Given the description of an element on the screen output the (x, y) to click on. 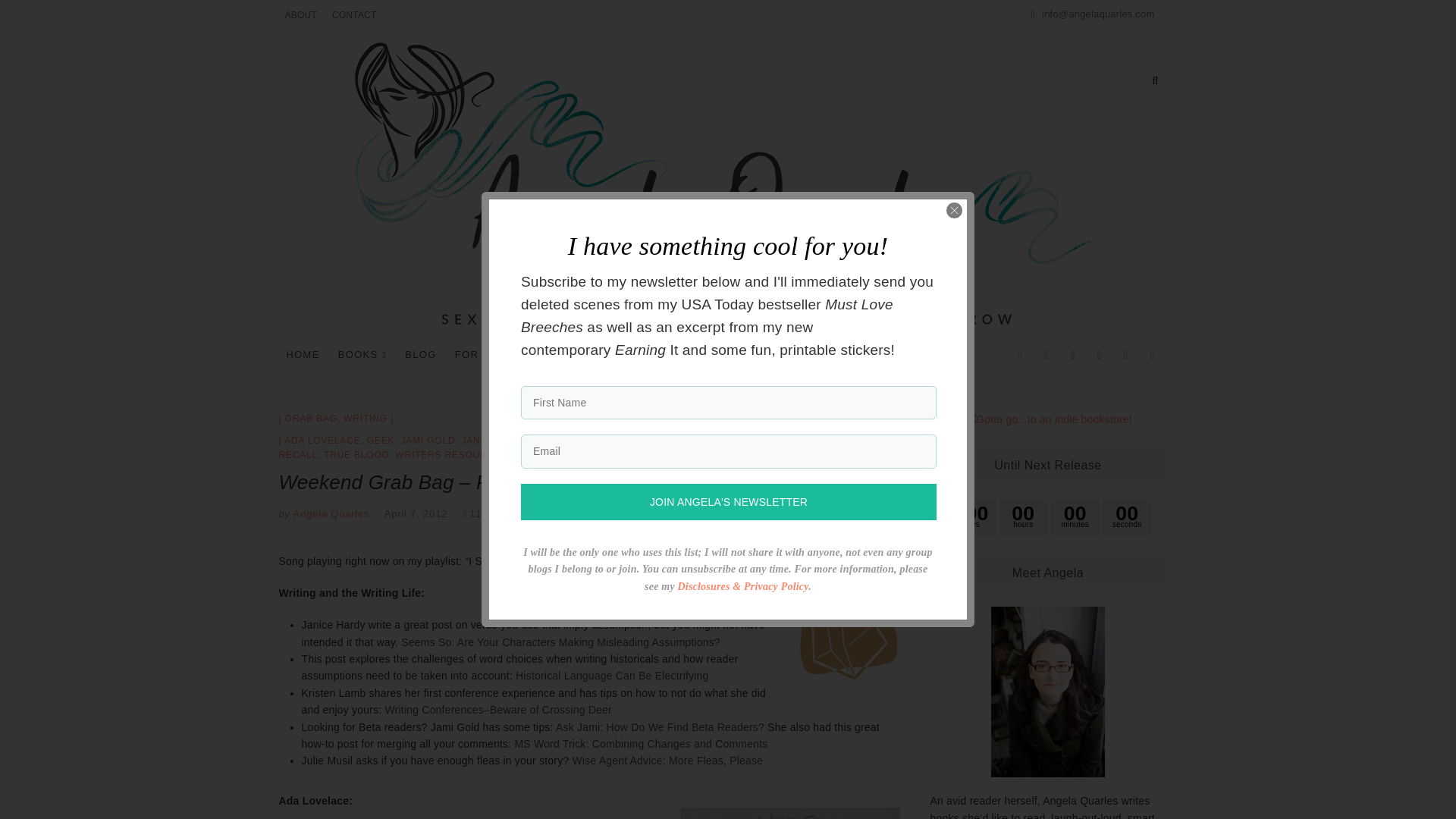
HOME (303, 354)
CONTACT (354, 15)
Facebook Page (1020, 355)
Amazon (1152, 355)
Angela Quarles (329, 513)
Twitter (1045, 355)
FOR WRITERS (603, 354)
Pinterest (1126, 355)
GRAB BAG (311, 418)
grabbag (844, 623)
ABOUT (301, 15)
BOOKS (362, 354)
Goodreads (1072, 355)
Mail Us (1092, 13)
FOR READERS (499, 354)
